Given the description of an element on the screen output the (x, y) to click on. 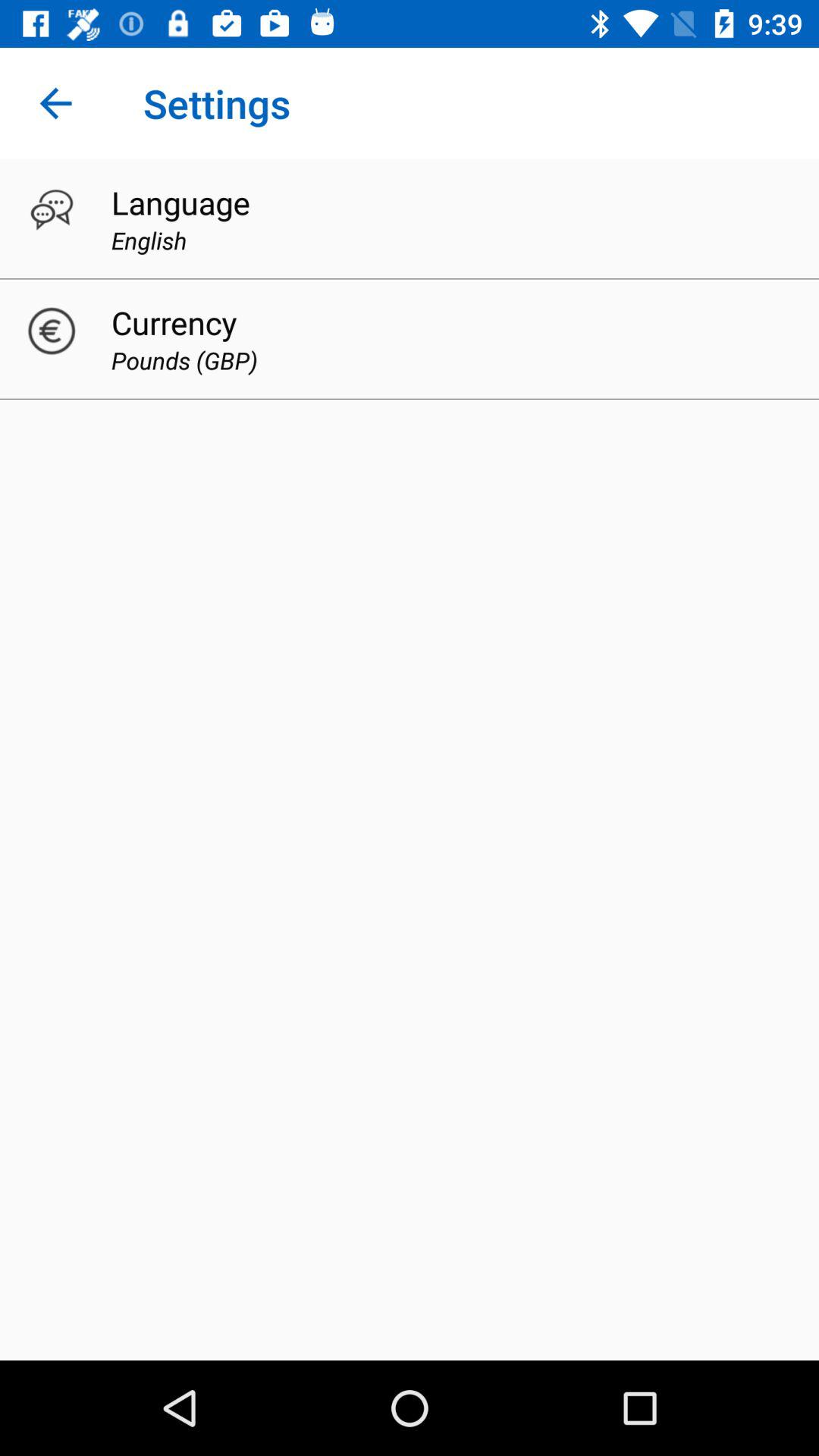
swipe until the language icon (180, 202)
